Given the description of an element on the screen output the (x, y) to click on. 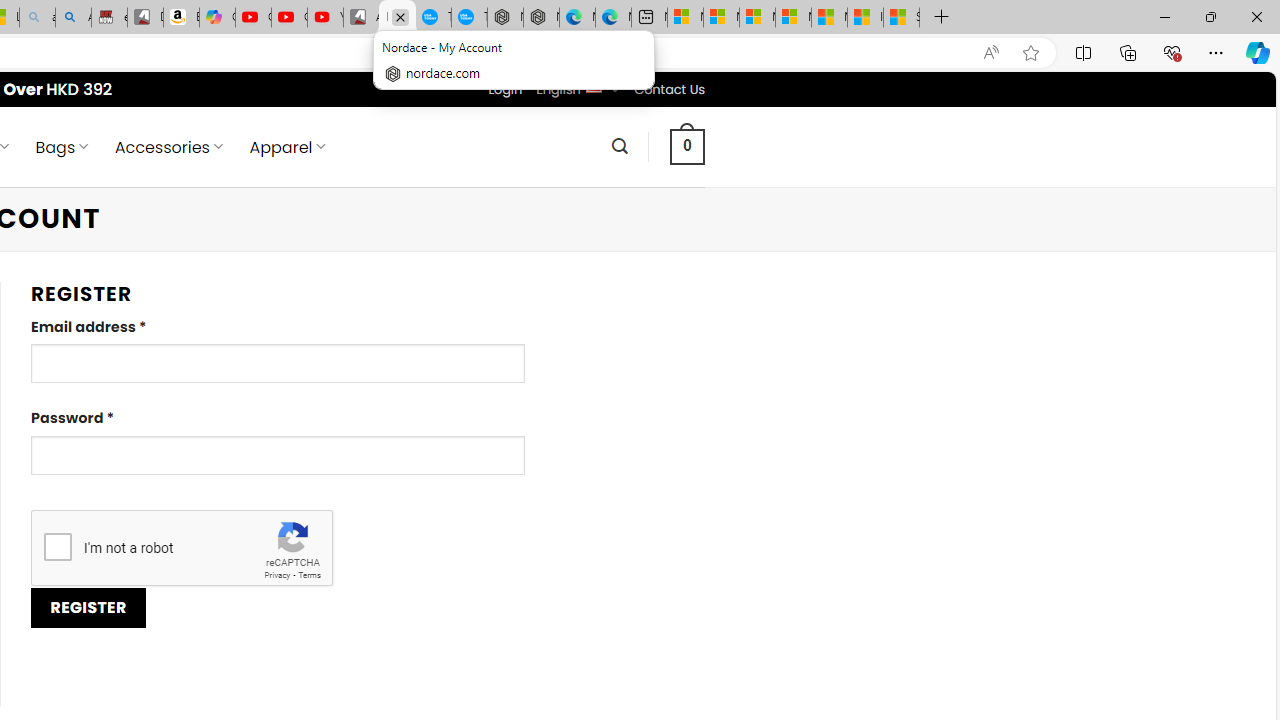
Login (505, 89)
Contact Us (669, 89)
Gloom - YouTube (289, 17)
Microsoft account | Privacy (793, 17)
The most popular Google 'how to' searches (469, 17)
Terms (309, 575)
Nordace - Nordace has arrived Hong Kong (541, 17)
